Given the description of an element on the screen output the (x, y) to click on. 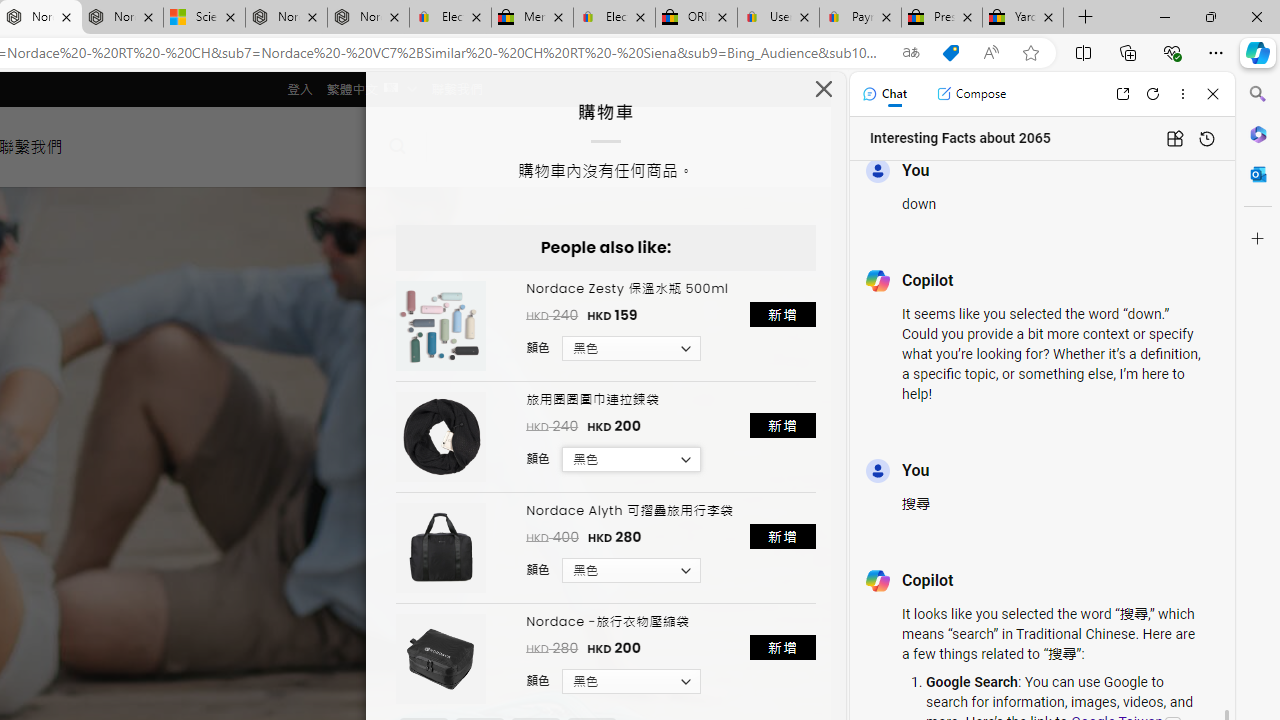
Compose (971, 93)
Payments Terms of Use | eBay.com (860, 17)
 0  (458, 146)
Yard, Garden & Outdoor Living (1023, 17)
Show translate options (910, 53)
User Privacy Notice | eBay (778, 17)
Nordace - Summer Adventures 2024 (285, 17)
